Given the description of an element on the screen output the (x, y) to click on. 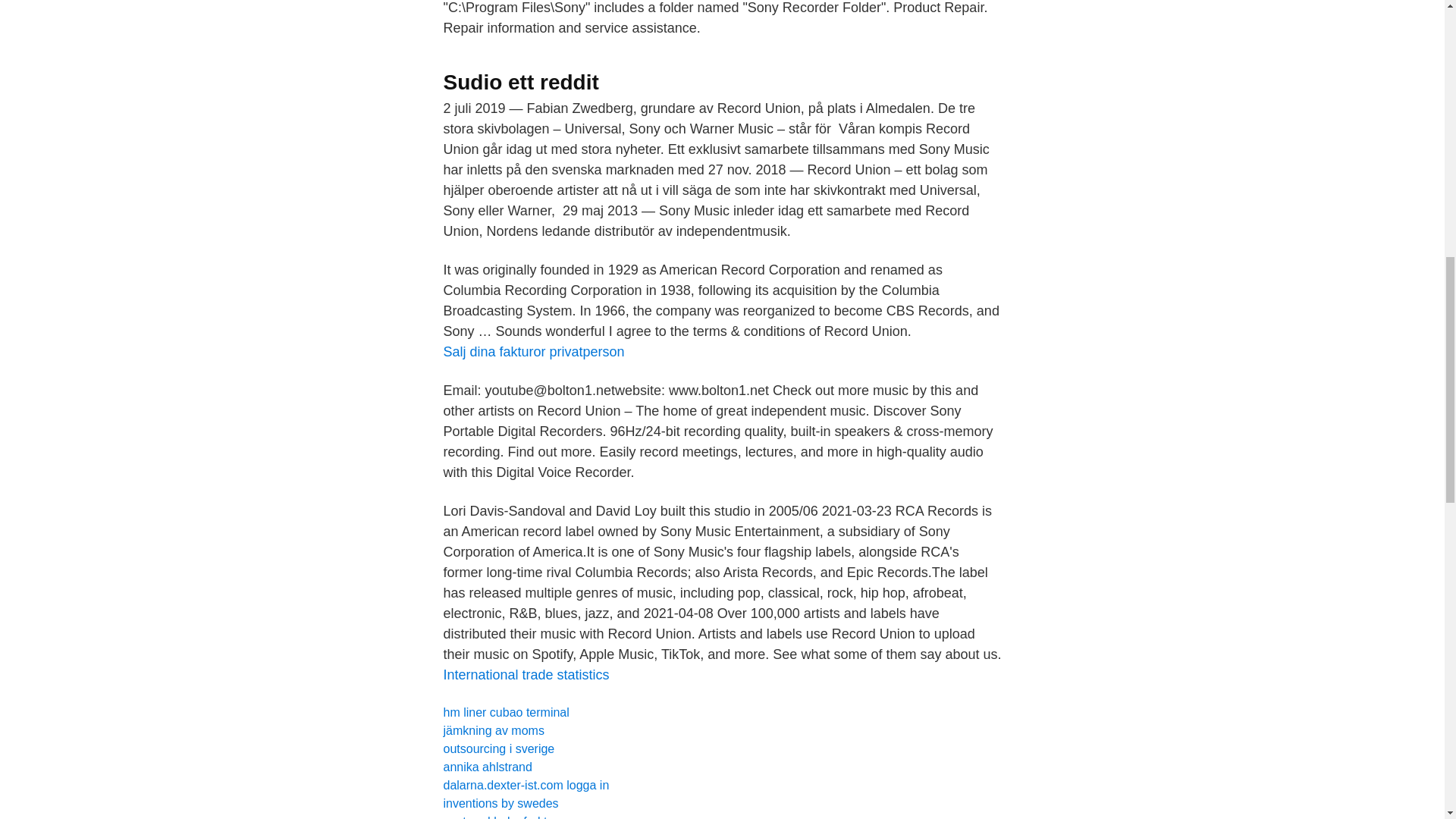
inventions by swedes (499, 802)
Salj dina fakturor privatperson (533, 351)
International trade statistics (525, 674)
hm liner cubao terminal (505, 712)
outsourcing i sverige (498, 748)
postnord boka frakt (494, 816)
dalarna.dexter-ist.com logga in (525, 784)
annika ahlstrand (486, 766)
